Given the description of an element on the screen output the (x, y) to click on. 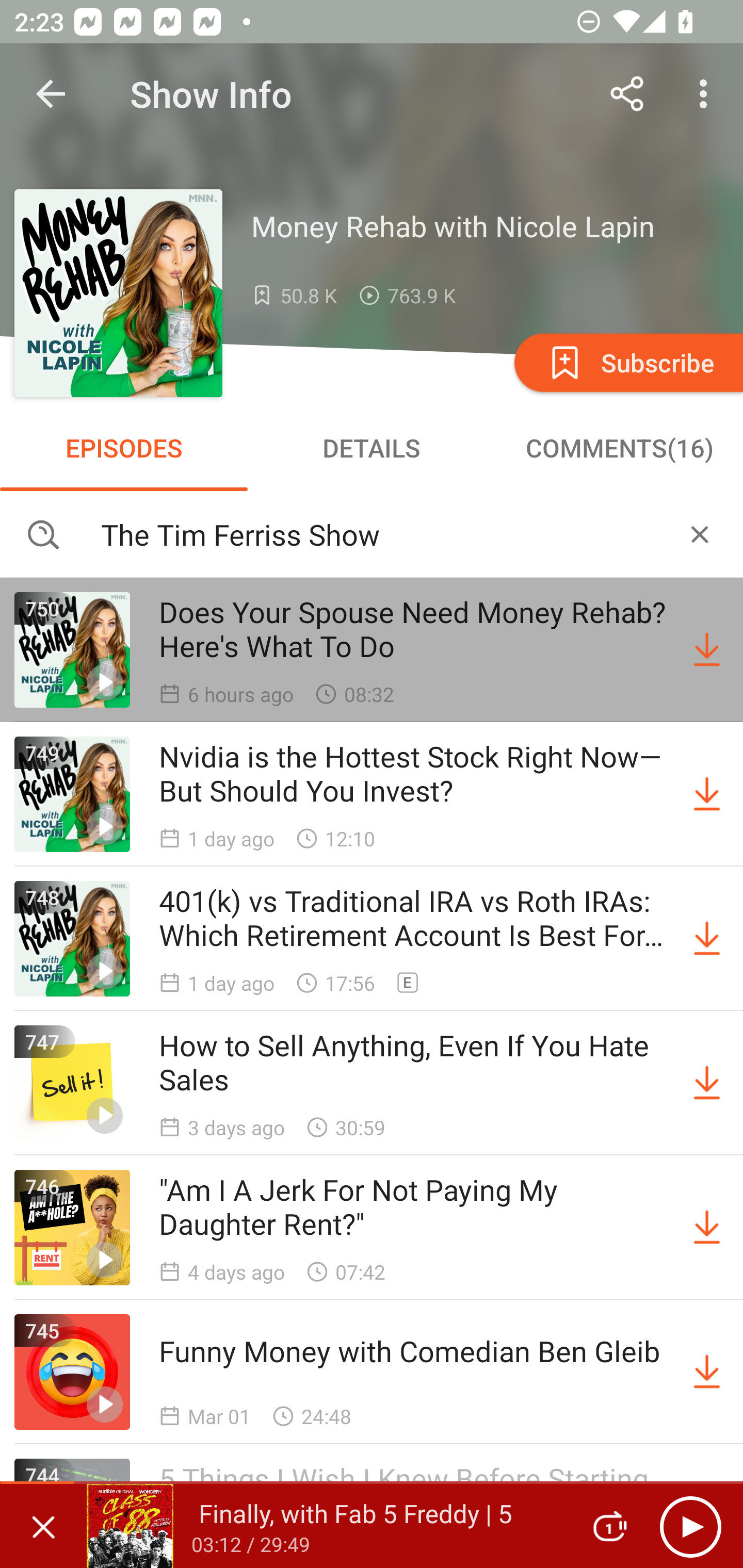
Navigate up (50, 93)
Share (626, 93)
More options (706, 93)
Subscribe (627, 361)
EPISODES (123, 447)
DETAILS (371, 447)
COMMENTS(16) (619, 447)
 CANCEL (699, 533)
The Tim Ferriss Show Search (371, 533)
Download (706, 649)
Download (706, 793)
Download (706, 939)
Download (706, 1083)
Download (706, 1227)
Download (706, 1371)
Play (690, 1526)
